Given the description of an element on the screen output the (x, y) to click on. 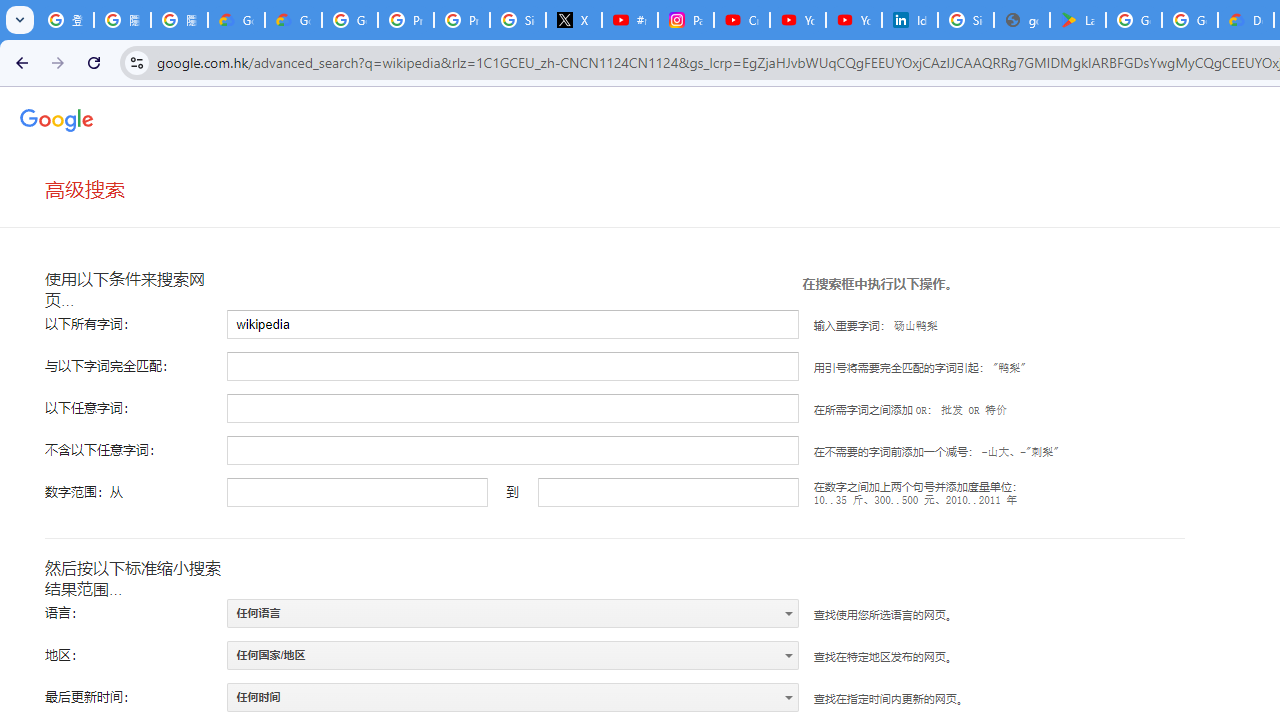
#nbabasketballhighlights - YouTube (629, 20)
Google Cloud Privacy Notice (293, 20)
YouTube Culture & Trends - YouTube Top 10, 2021 (853, 20)
Sign in - Google Accounts (966, 20)
Last Shelter: Survival - Apps on Google Play (1077, 20)
